Given the description of an element on the screen output the (x, y) to click on. 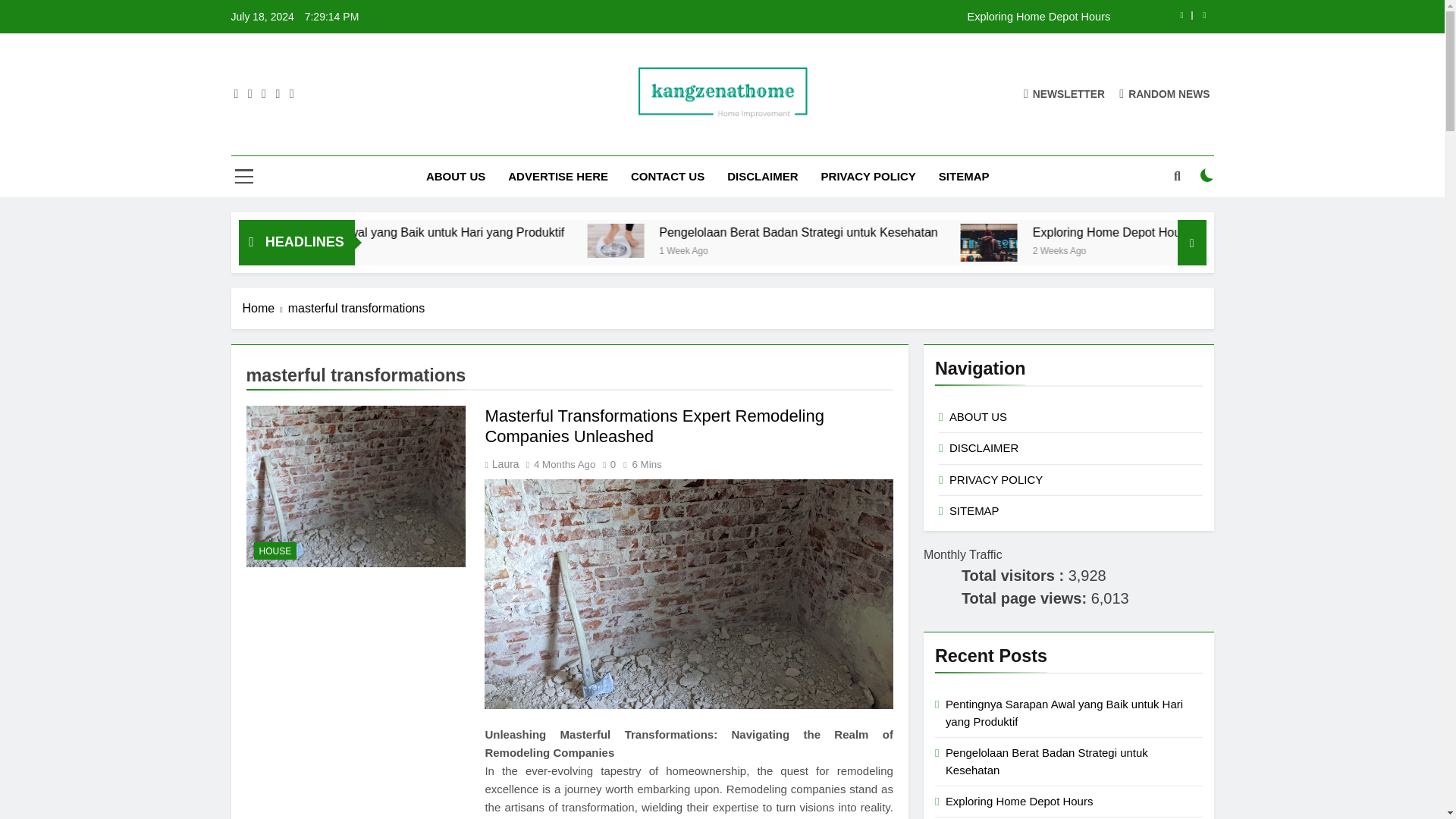
Pengelolaan Berat Badan Strategi untuk Kesehatan (923, 232)
RANDOM NEWS (1164, 92)
Exploring Home Depot Hours (817, 16)
Kangzenathome (598, 141)
Pengelolaan Berat Badan Strategi untuk Kesehatan (742, 240)
Pengelolaan Berat Badan Strategi untuk Kesehatan (745, 240)
Exploring Home Depot Hours (817, 16)
on (1206, 174)
NEWSLETTER (1064, 92)
Pengelolaan Berat Badan Strategi untuk Kesehatan (951, 232)
Exploring Home Depot Hours (1112, 242)
Pentingnya Sarapan Awal yang Baik untuk Hari yang Produktif (555, 232)
ADVERTISE HERE (558, 176)
2 Weeks Ago (1204, 249)
1 Week Ago (410, 249)
